Given the description of an element on the screen output the (x, y) to click on. 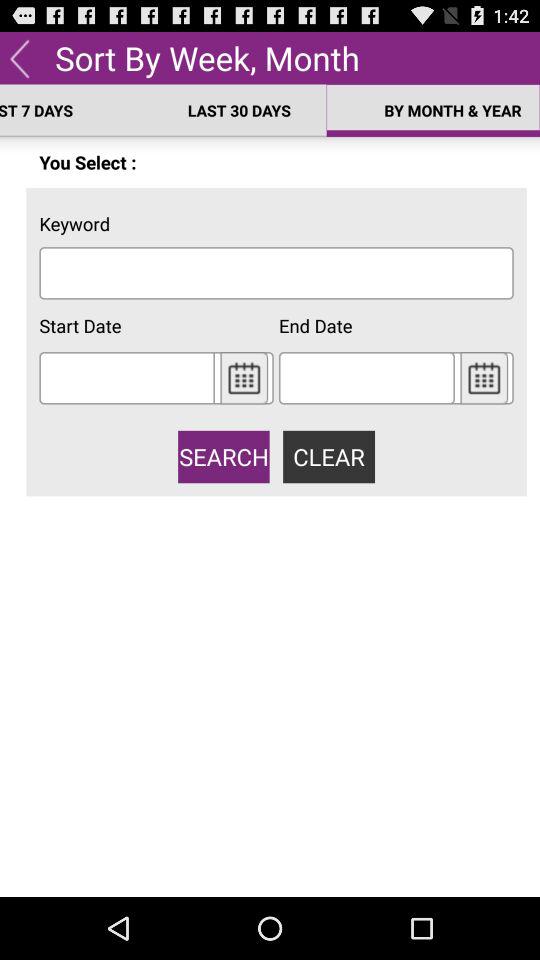
view calendar (243, 377)
